Given the description of an element on the screen output the (x, y) to click on. 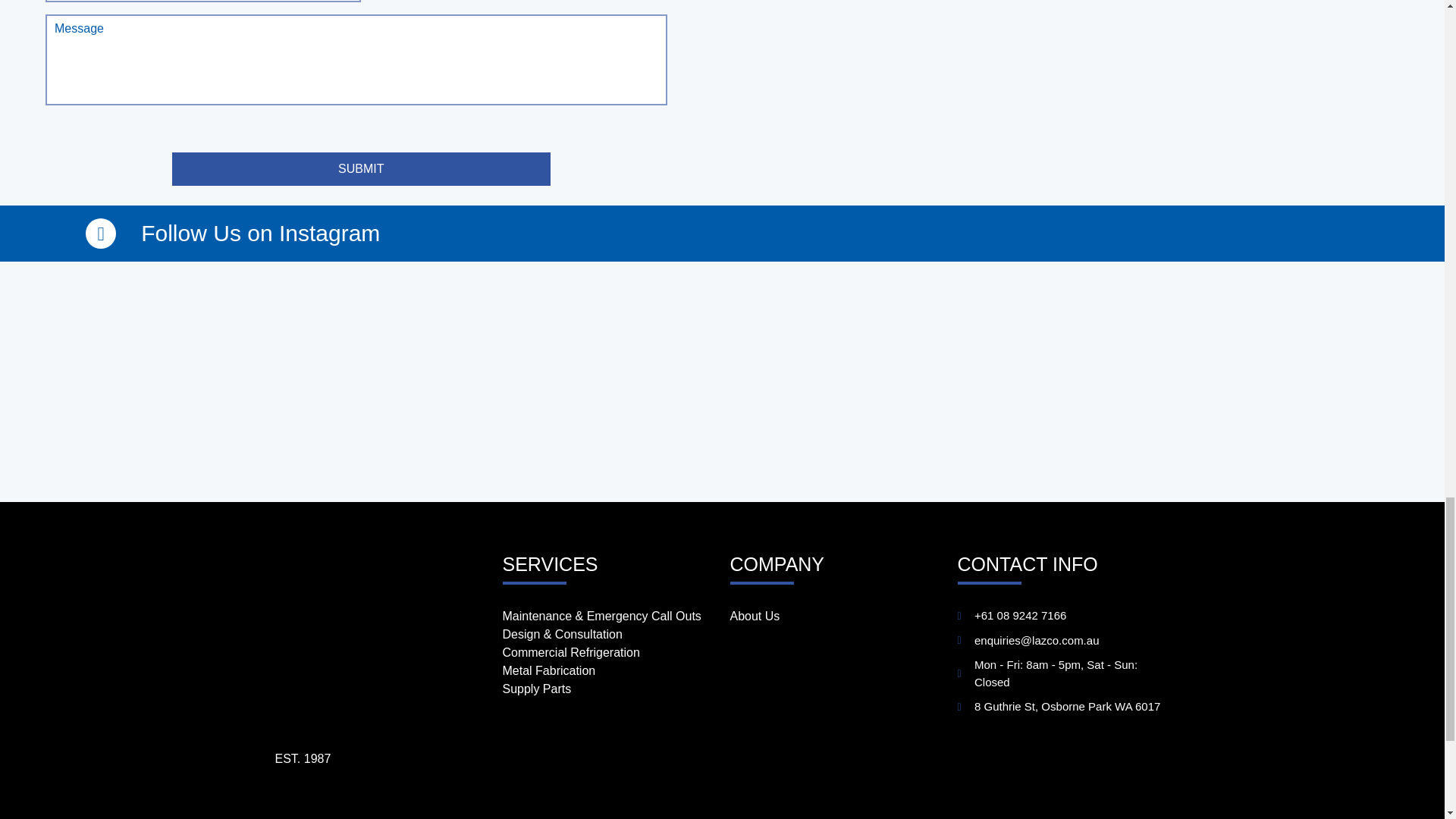
SUBMIT (360, 168)
